Given the description of an element on the screen output the (x, y) to click on. 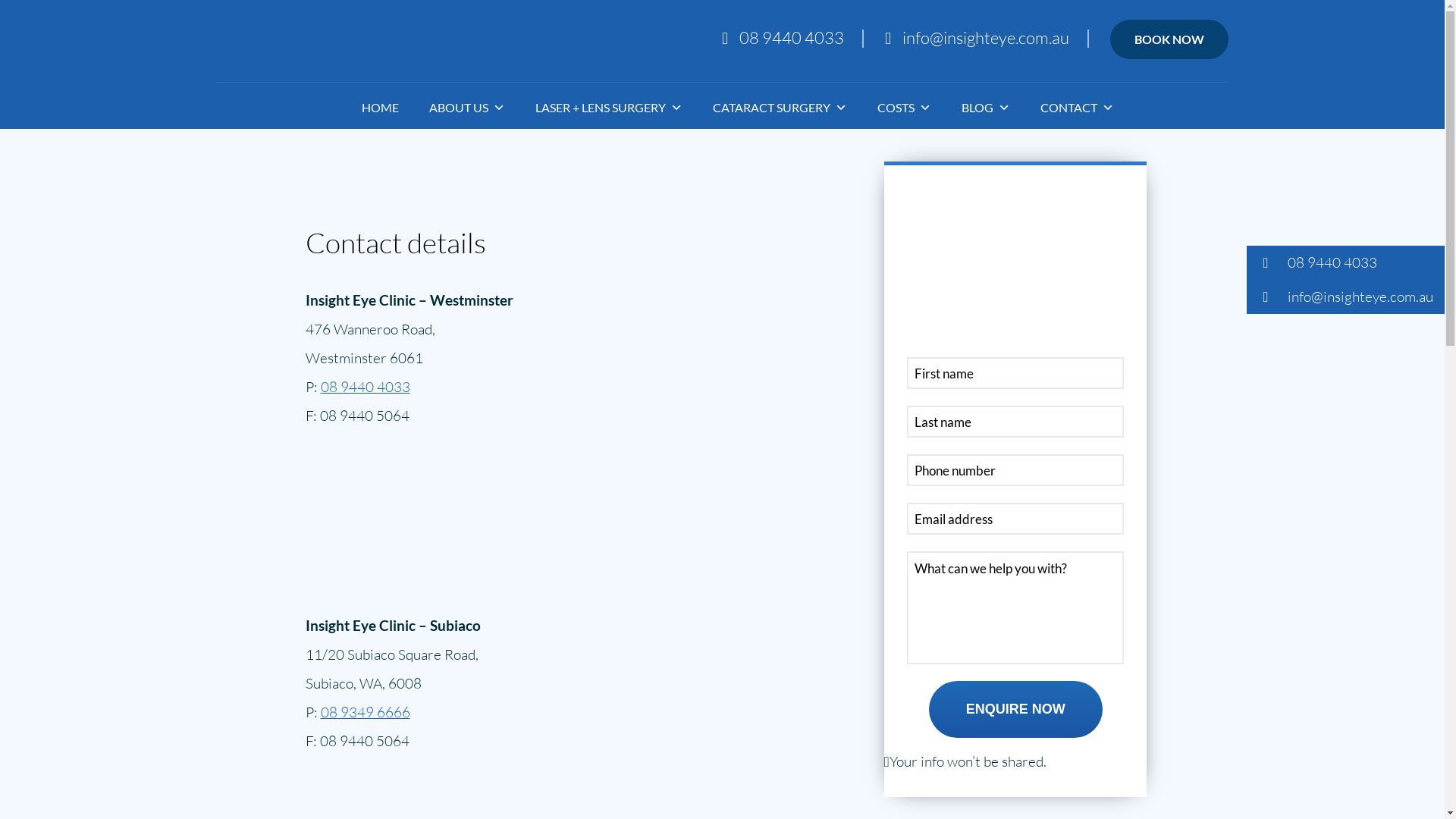
LASER + LENS SURGERY Element type: text (593, 107)
CATARACT SURGERY Element type: text (764, 107)
Enquire Now Element type: text (1015, 708)
info@insighteye.com.au Element type: text (976, 38)
ABOUT US Element type: text (451, 107)
COSTS Element type: text (888, 107)
BLOG Element type: text (970, 107)
info@insighteye.com.au Element type: text (1345, 296)
08 9440 4033 Element type: text (782, 38)
BOOK NOW Element type: text (1169, 39)
08 9440 4033 Element type: text (364, 386)
08 9349 6666 Element type: text (364, 711)
HOME Element type: text (364, 107)
Insight Eye Element type: text (292, 38)
08 9440 4033 Element type: text (1345, 262)
CONTACT Element type: text (1061, 107)
